Given the description of an element on the screen output the (x, y) to click on. 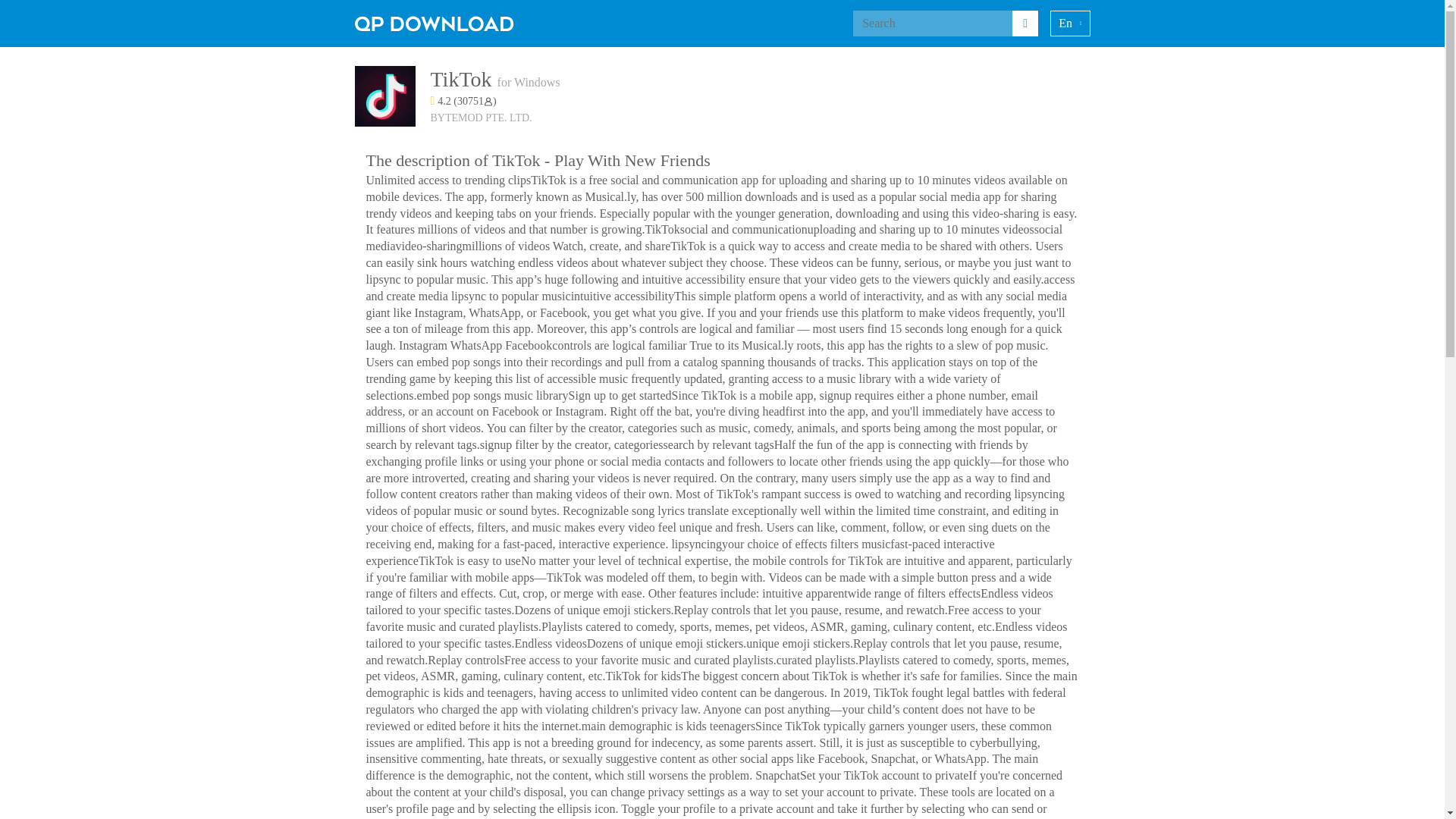
En (1069, 23)
